Given the description of an element on the screen output the (x, y) to click on. 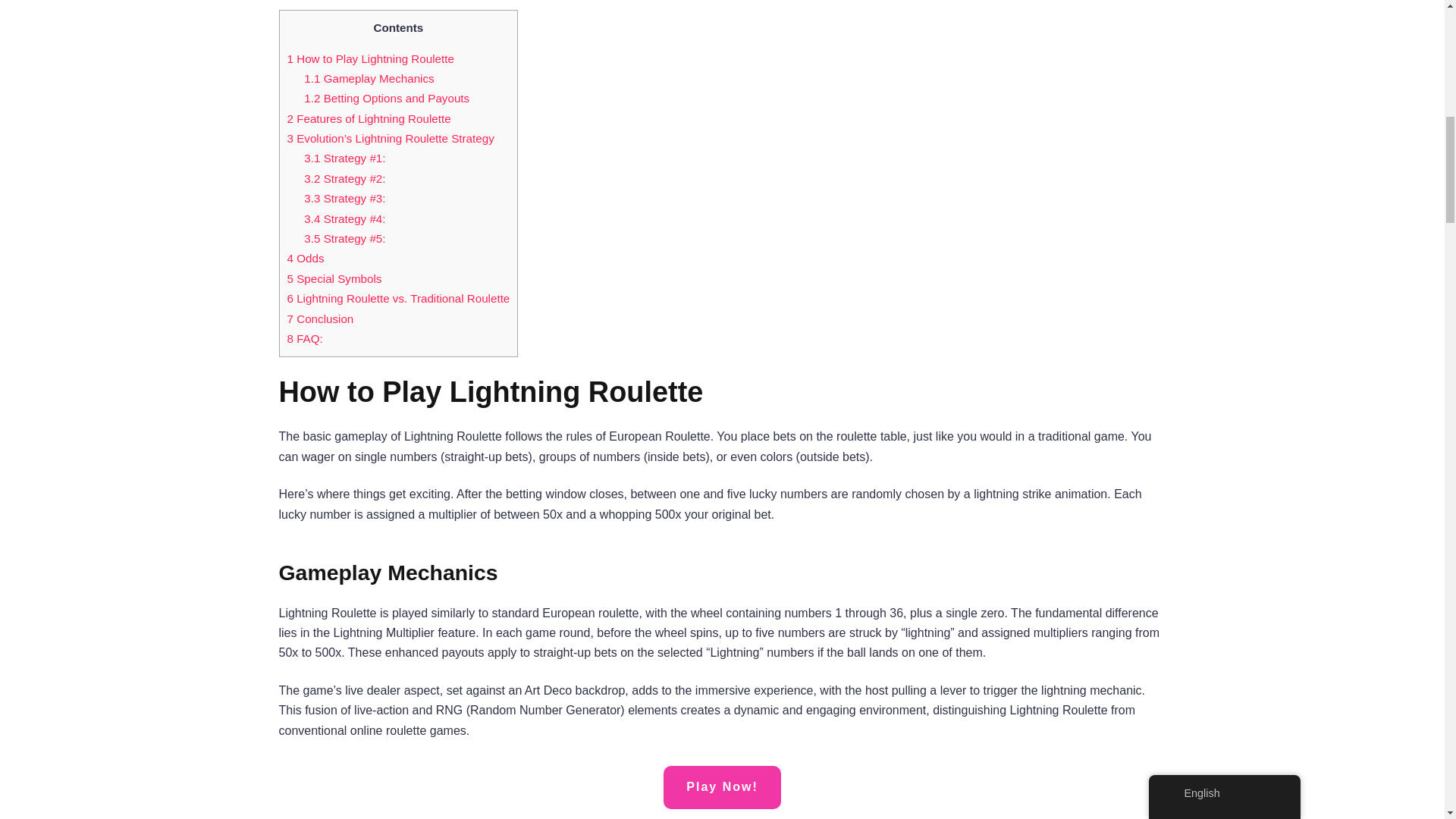
Play Now! (721, 786)
1 How to Play Lightning Roulette (369, 57)
1.1 Gameplay Mechanics (368, 78)
8 FAQ: (303, 338)
6 Lightning Roulette vs. Traditional Roulette (397, 297)
4 Odds (304, 257)
1.2 Betting Options and Payouts (386, 97)
7 Conclusion (319, 318)
2 Features of Lightning Roulette (367, 118)
5 Special Symbols (333, 278)
